Given the description of an element on the screen output the (x, y) to click on. 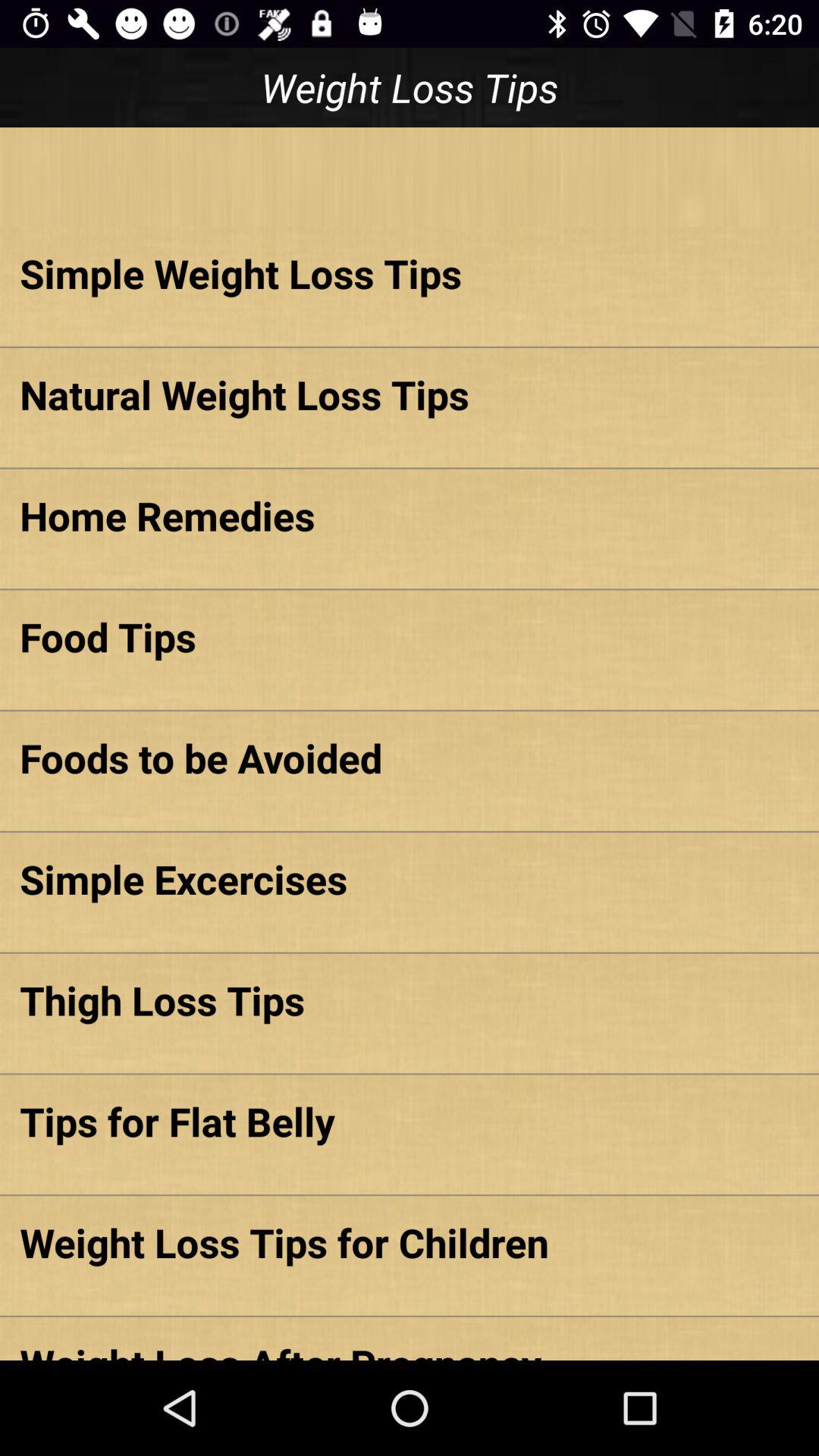
turn on item above thigh loss tips (409, 878)
